Given the description of an element on the screen output the (x, y) to click on. 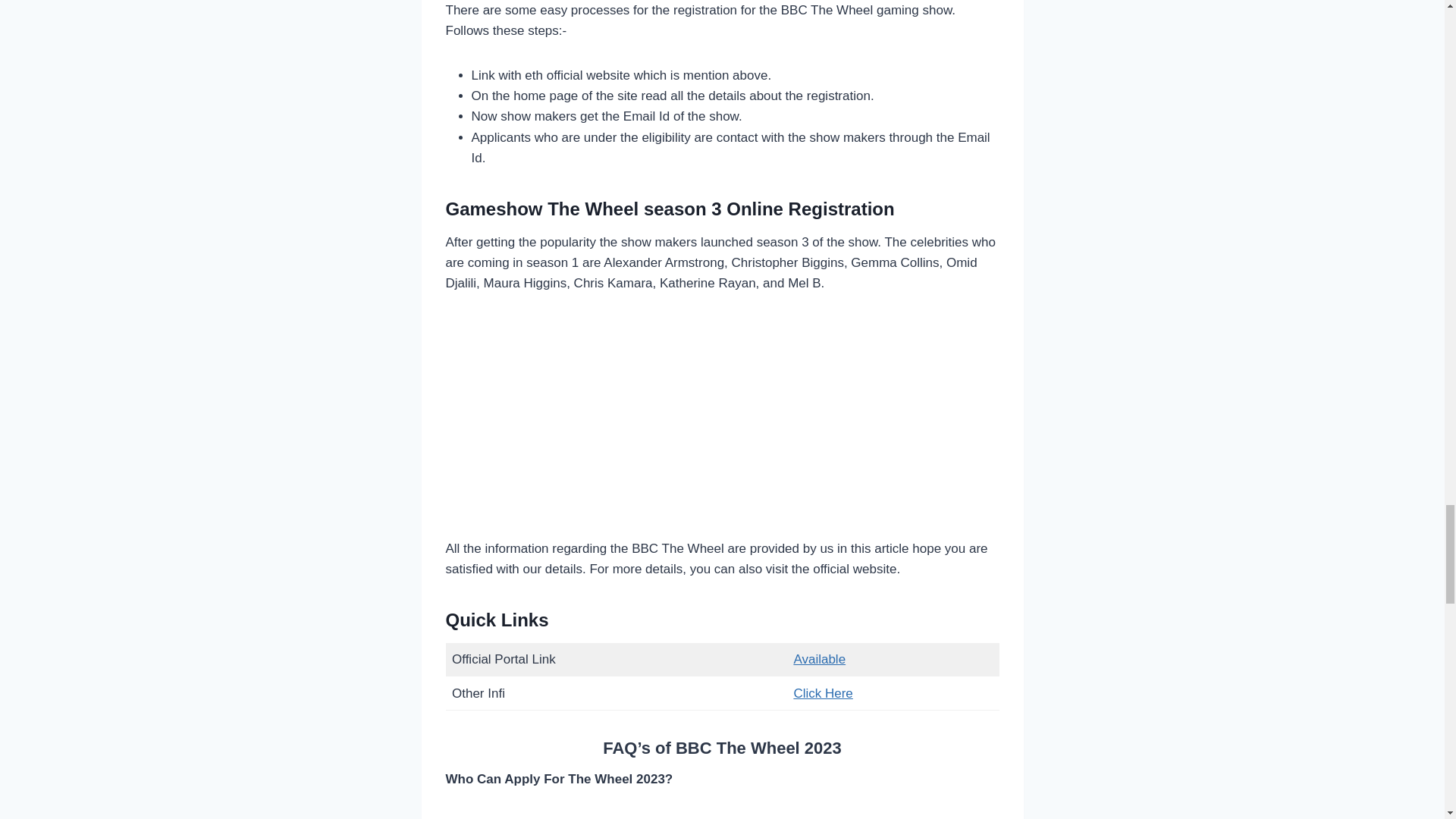
Click Here (822, 693)
Available (819, 658)
